Given the description of an element on the screen output the (x, y) to click on. 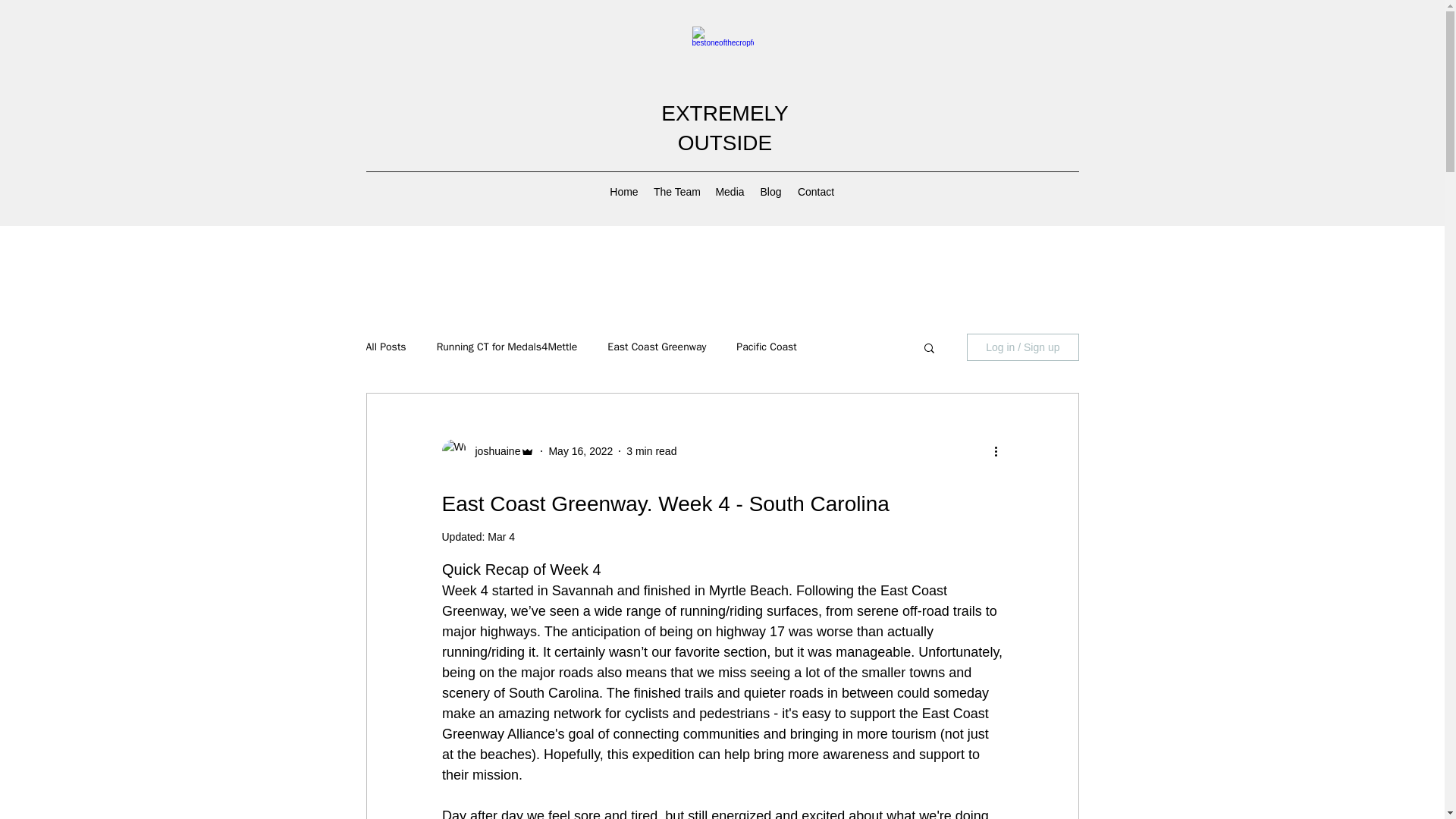
3 min read (651, 450)
May 16, 2022 (580, 450)
joshuaine (492, 450)
Contact (816, 191)
East Coast Greenway (656, 346)
The Team (676, 191)
Pacific Coast (766, 346)
Running CT for Medals4Mettle (507, 346)
Mar 4 (501, 536)
All Posts (385, 346)
